Given the description of an element on the screen output the (x, y) to click on. 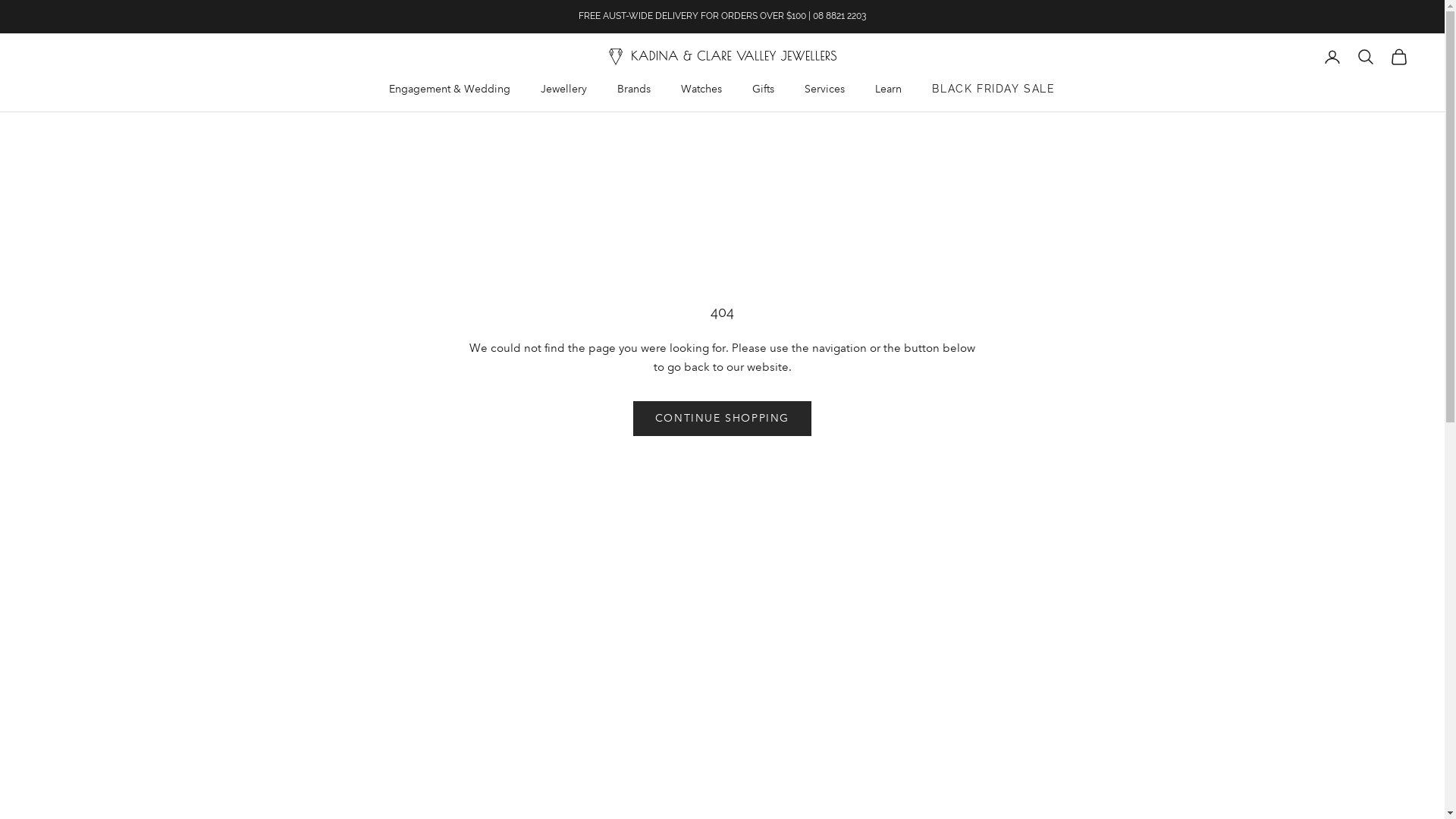
Open search Element type: text (1365, 56)
CONTINUE SHOPPING Element type: text (722, 418)
BLACK FRIDAY SALE Element type: text (992, 88)
Open account page Element type: text (1332, 56)
Open cart Element type: text (1399, 56)
Kadina Jewellers Element type: text (721, 56)
